Given the description of an element on the screen output the (x, y) to click on. 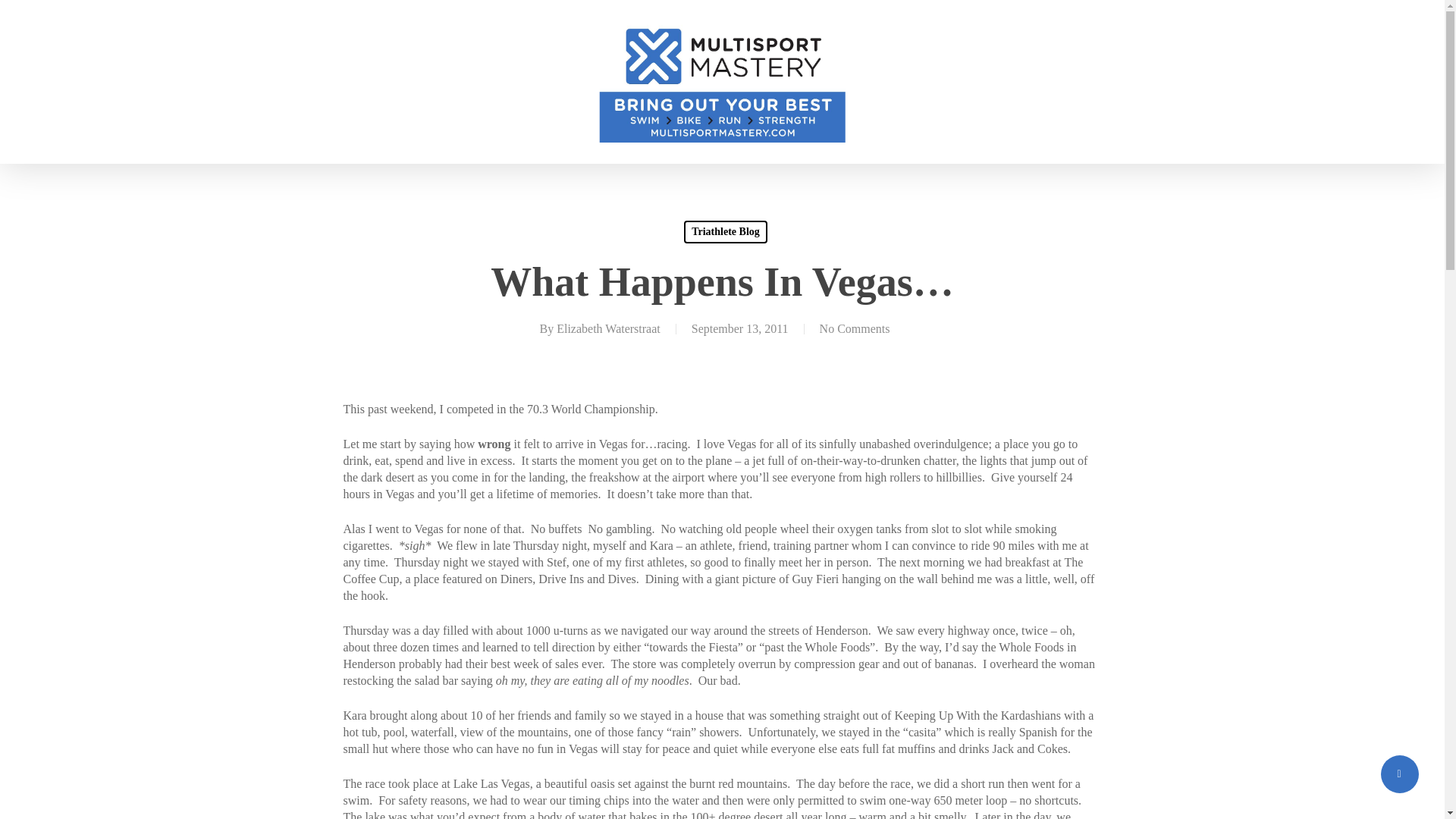
Triathlete Blog (725, 231)
No Comments (854, 328)
Elizabeth Waterstraat (608, 328)
Posts by Elizabeth Waterstraat (608, 328)
